Given the description of an element on the screen output the (x, y) to click on. 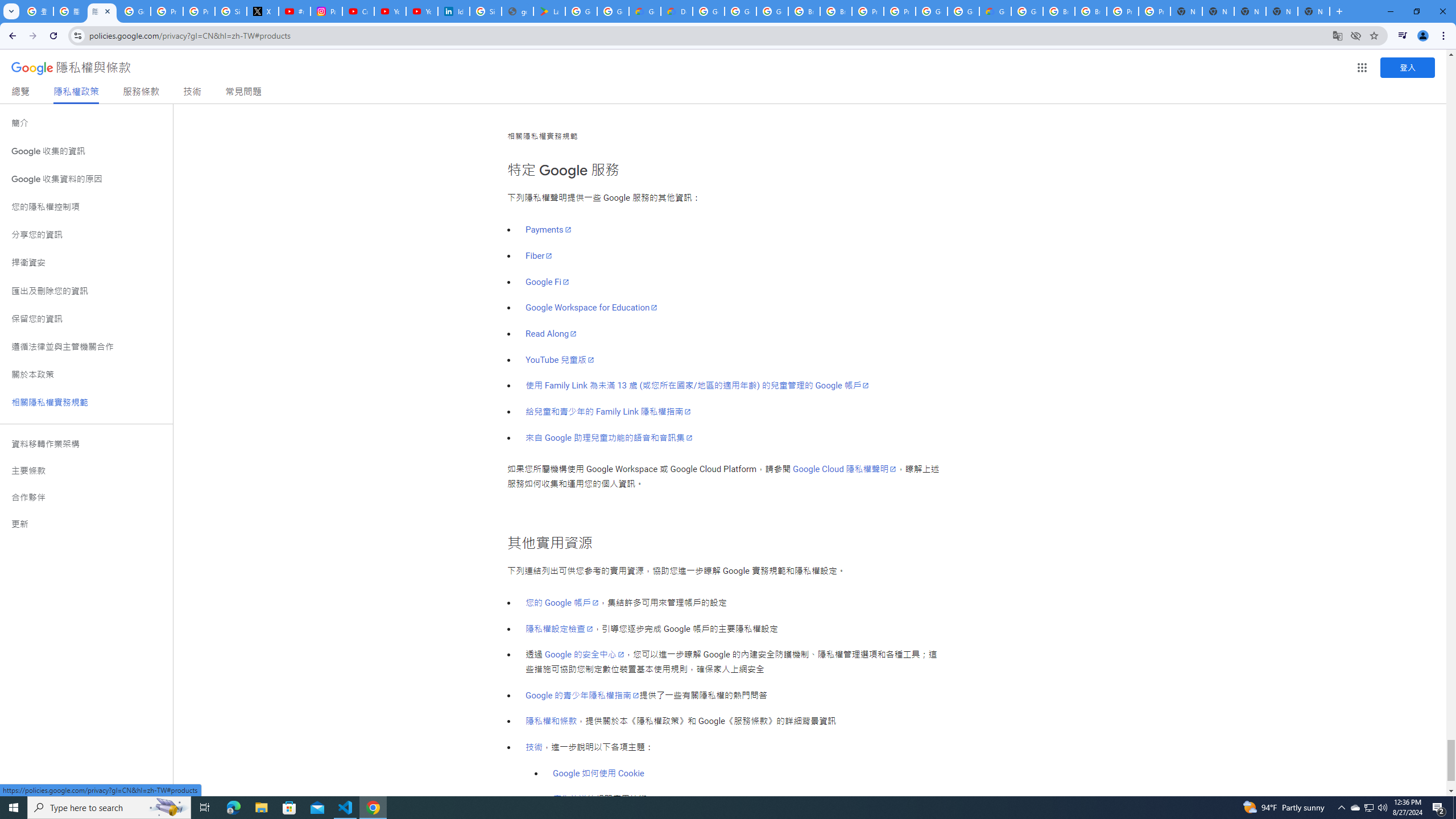
Google Workspace for Education (591, 307)
Browse Chrome as a guest - Computer - Google Chrome Help (804, 11)
YouTube Culture & Trends - YouTube Top 10, 2021 (421, 11)
Privacy Help Center - Policies Help (166, 11)
